Given the description of an element on the screen output the (x, y) to click on. 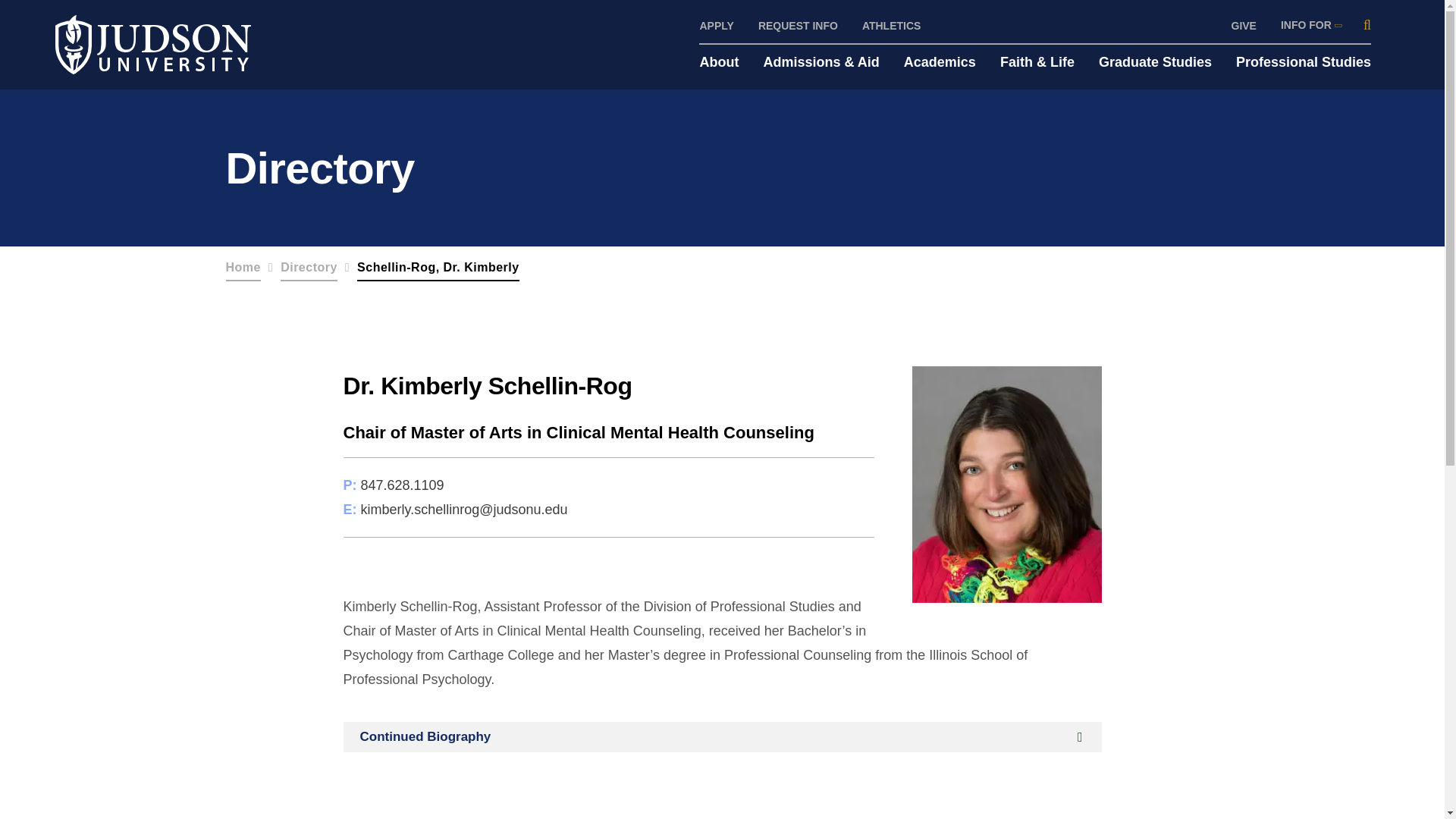
Athletics (891, 25)
Apply (715, 25)
ATHLETICS (891, 25)
APPLY (715, 25)
REQUEST INFO (798, 25)
Request Info (798, 25)
INFO FOR (1310, 25)
GIVE (1243, 25)
Give (1243, 25)
About (718, 62)
About (718, 62)
Info For (1310, 25)
Academics (939, 62)
